Given the description of an element on the screen output the (x, y) to click on. 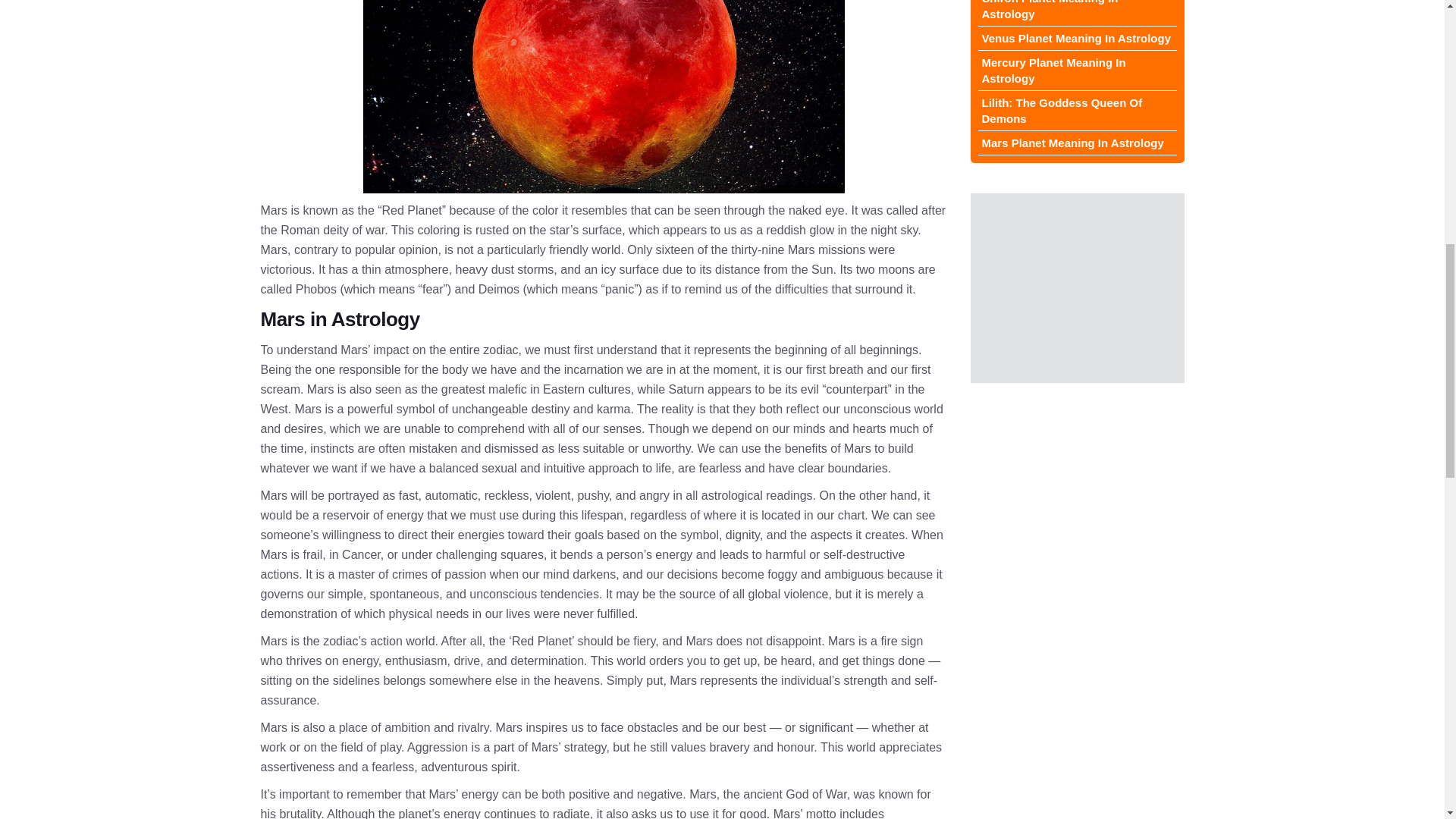
Venus Planet Meaning In Astrology (1077, 38)
Mars Planet Meaning In Astrology (1077, 143)
Lilith: The Goddess Queen Of Demons (1077, 110)
Mercury Planet Meaning In Astrology (1077, 70)
Chiron Planet Meaning In Astrology (1077, 13)
